Given the description of an element on the screen output the (x, y) to click on. 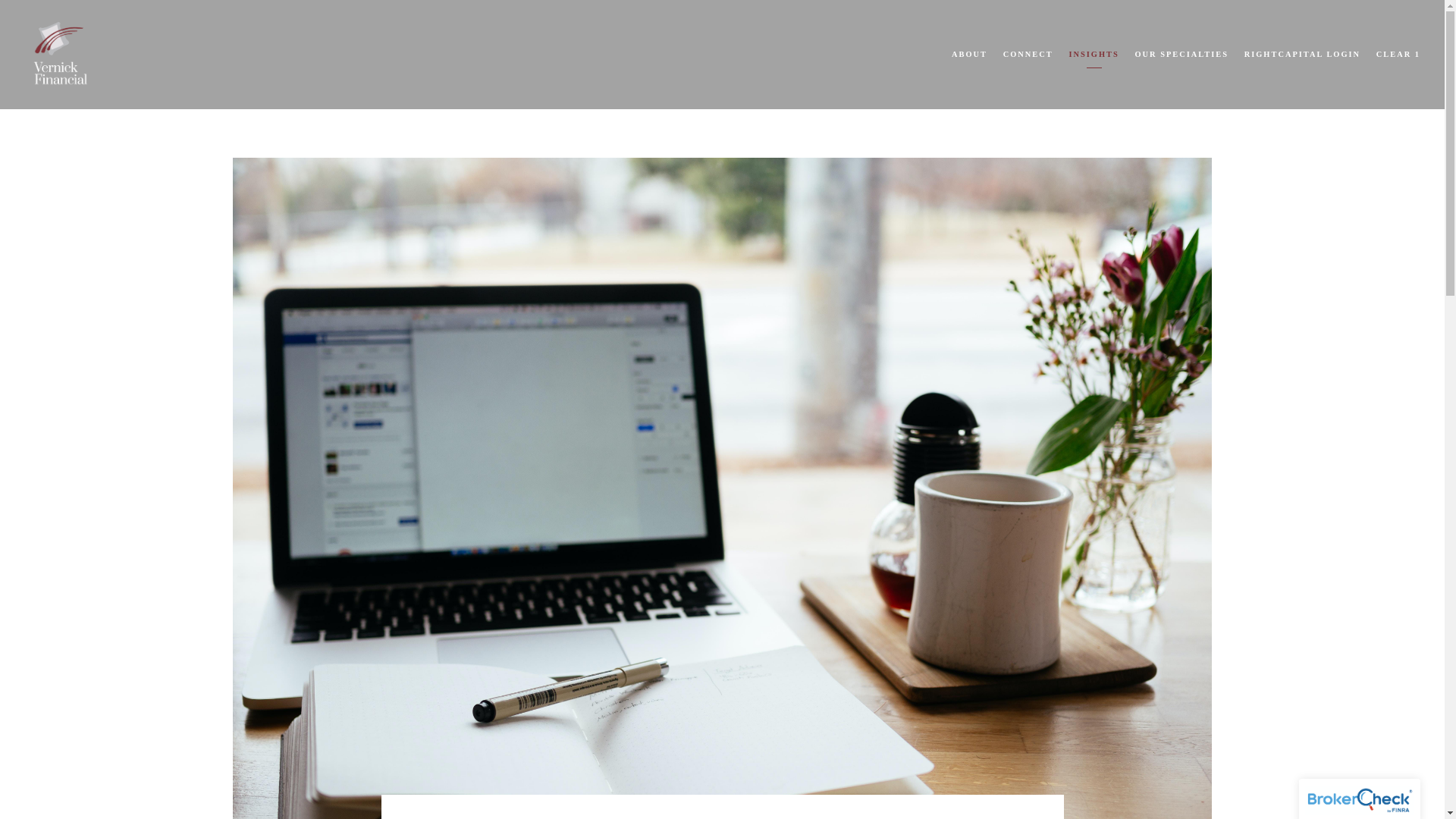
OUR SPECIALTIES (1180, 55)
INSIGHTS (1093, 55)
RIGHTCAPITAL LOGIN (1301, 55)
CLEAR 1 (1398, 55)
CONNECT (1027, 55)
ABOUT (969, 55)
